Given the description of an element on the screen output the (x, y) to click on. 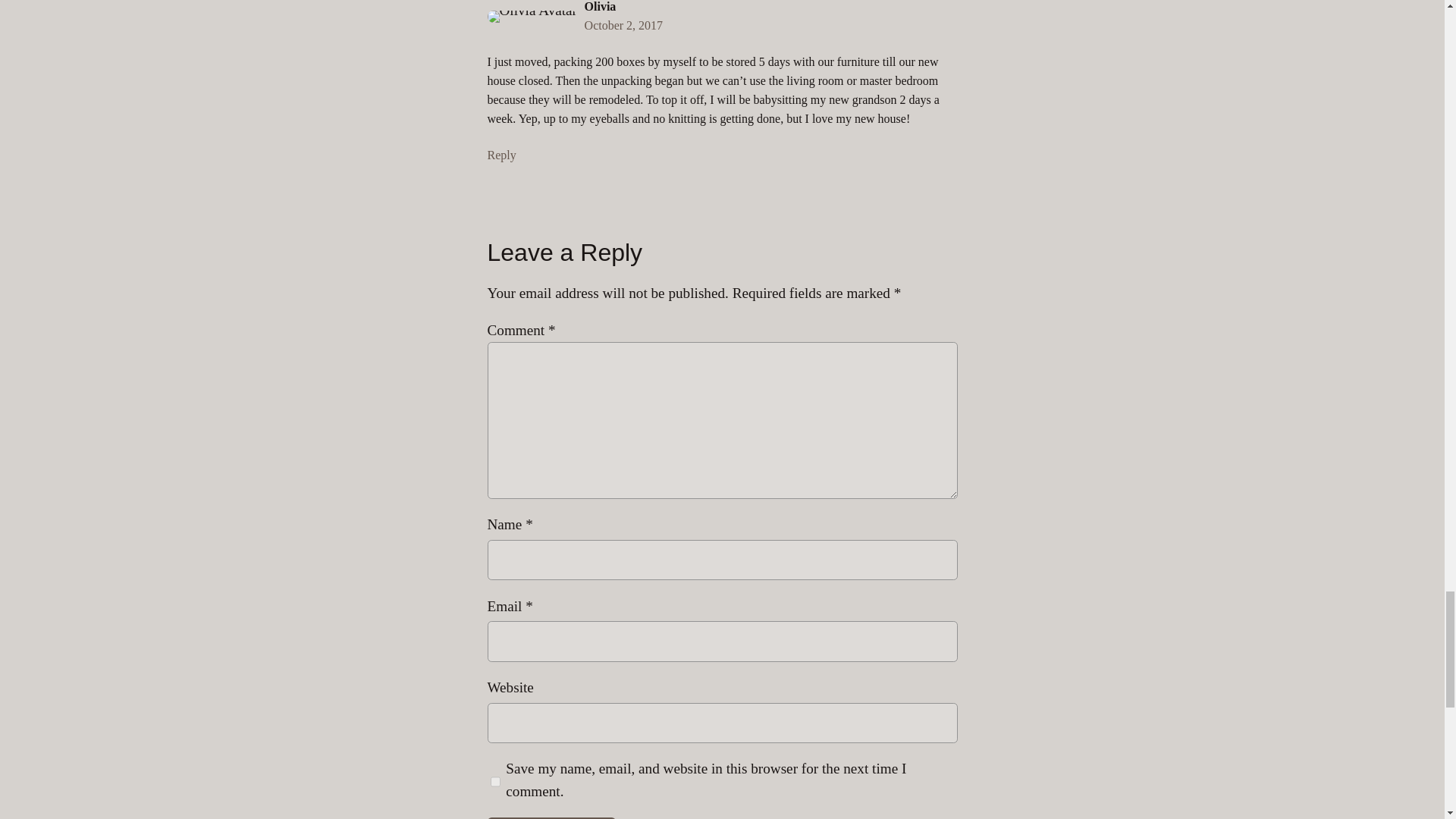
Post Comment (550, 818)
